Given the description of an element on the screen output the (x, y) to click on. 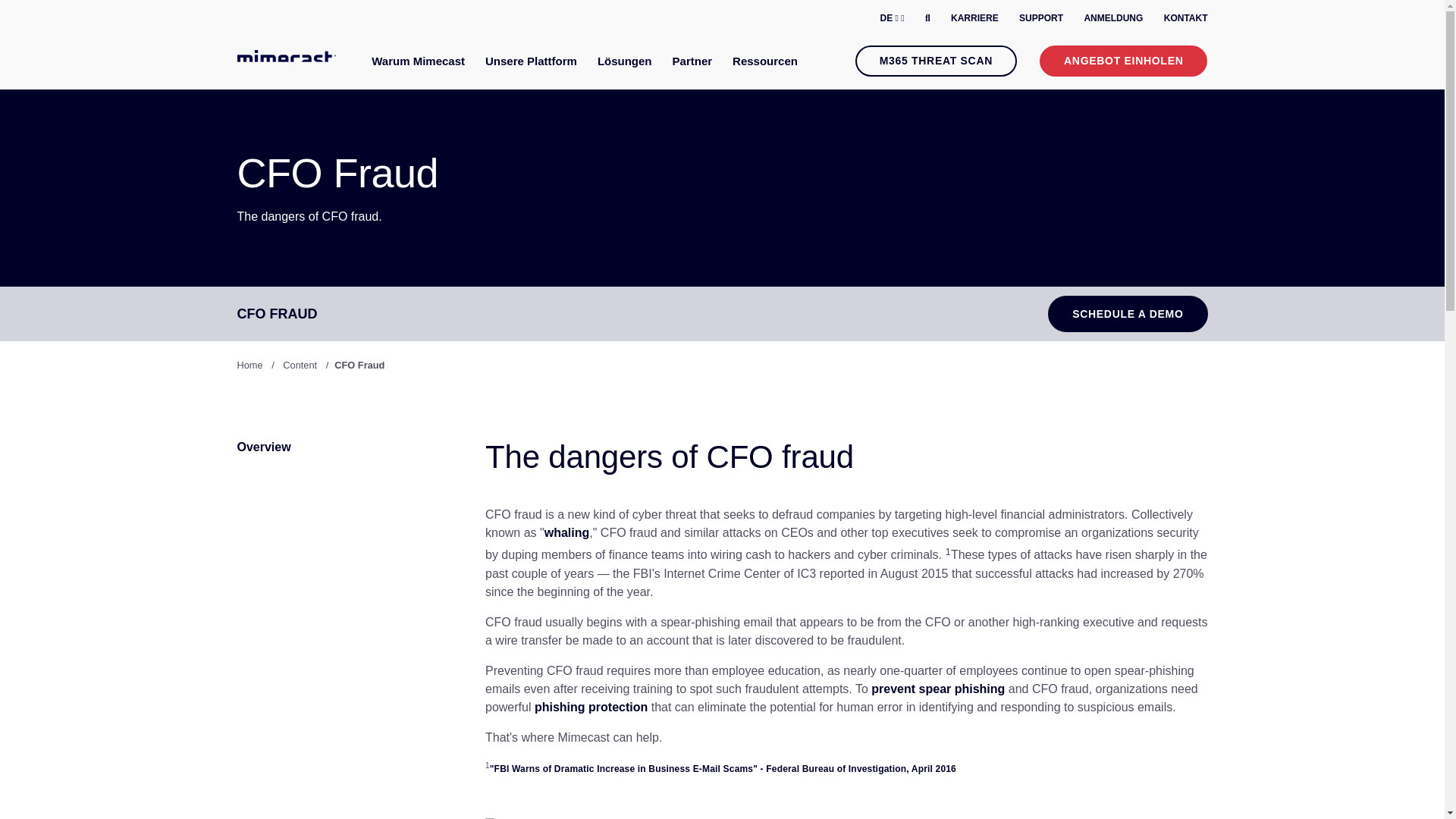
KONTAKT (1185, 18)
KARRIERE (974, 18)
SUPPORT (1040, 18)
ANMELDUNG (1112, 18)
